Given the description of an element on the screen output the (x, y) to click on. 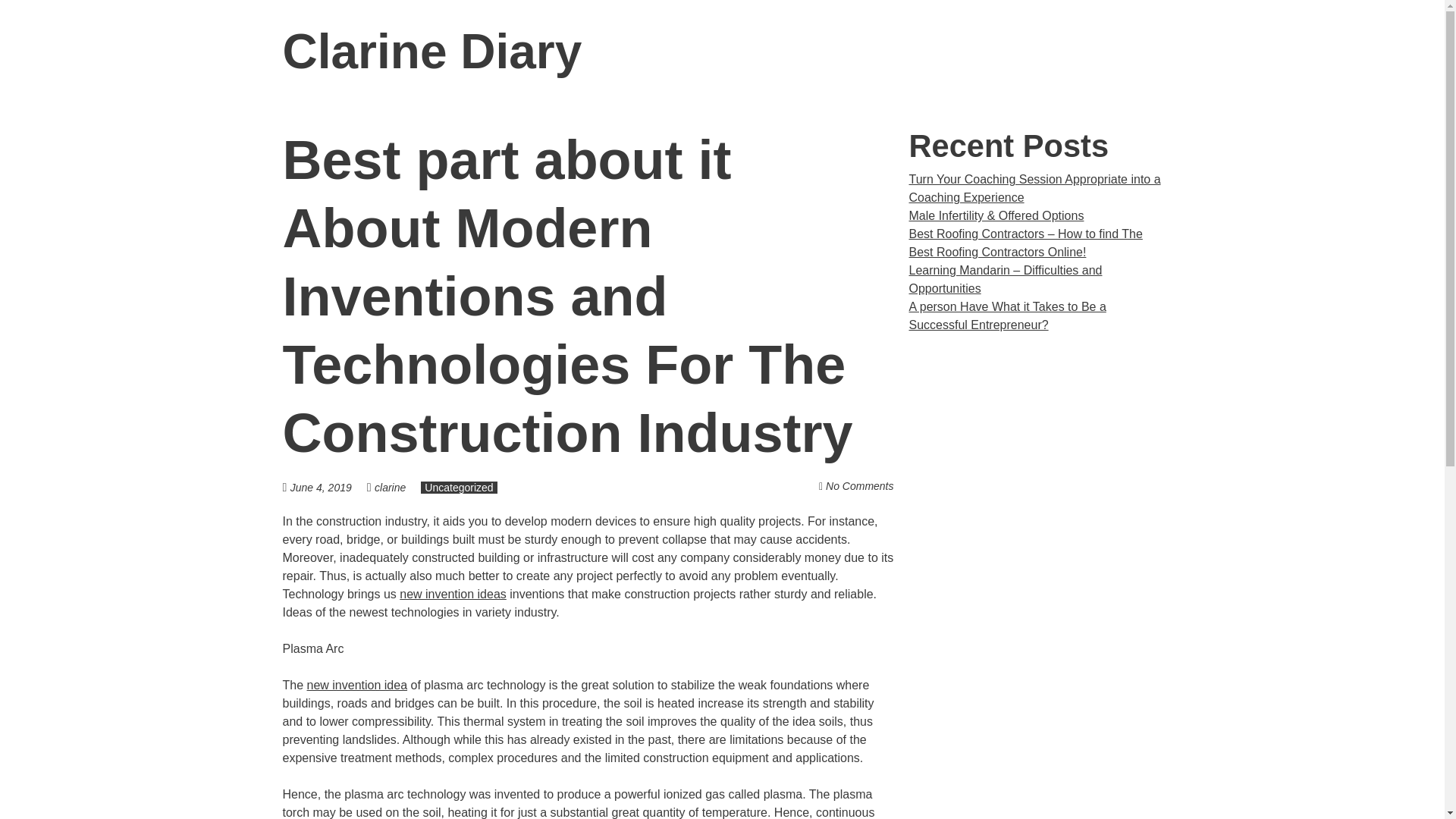
Skip to content (1181, 52)
Clarine Diary (431, 51)
A person Have What it Takes to Be a Successful Entrepreneur? (1006, 315)
No Comments (859, 485)
new invention ideas (452, 594)
new invention idea (357, 684)
Uncategorized (458, 487)
June 4, 2019 (327, 486)
clarine (390, 487)
